Given the description of an element on the screen output the (x, y) to click on. 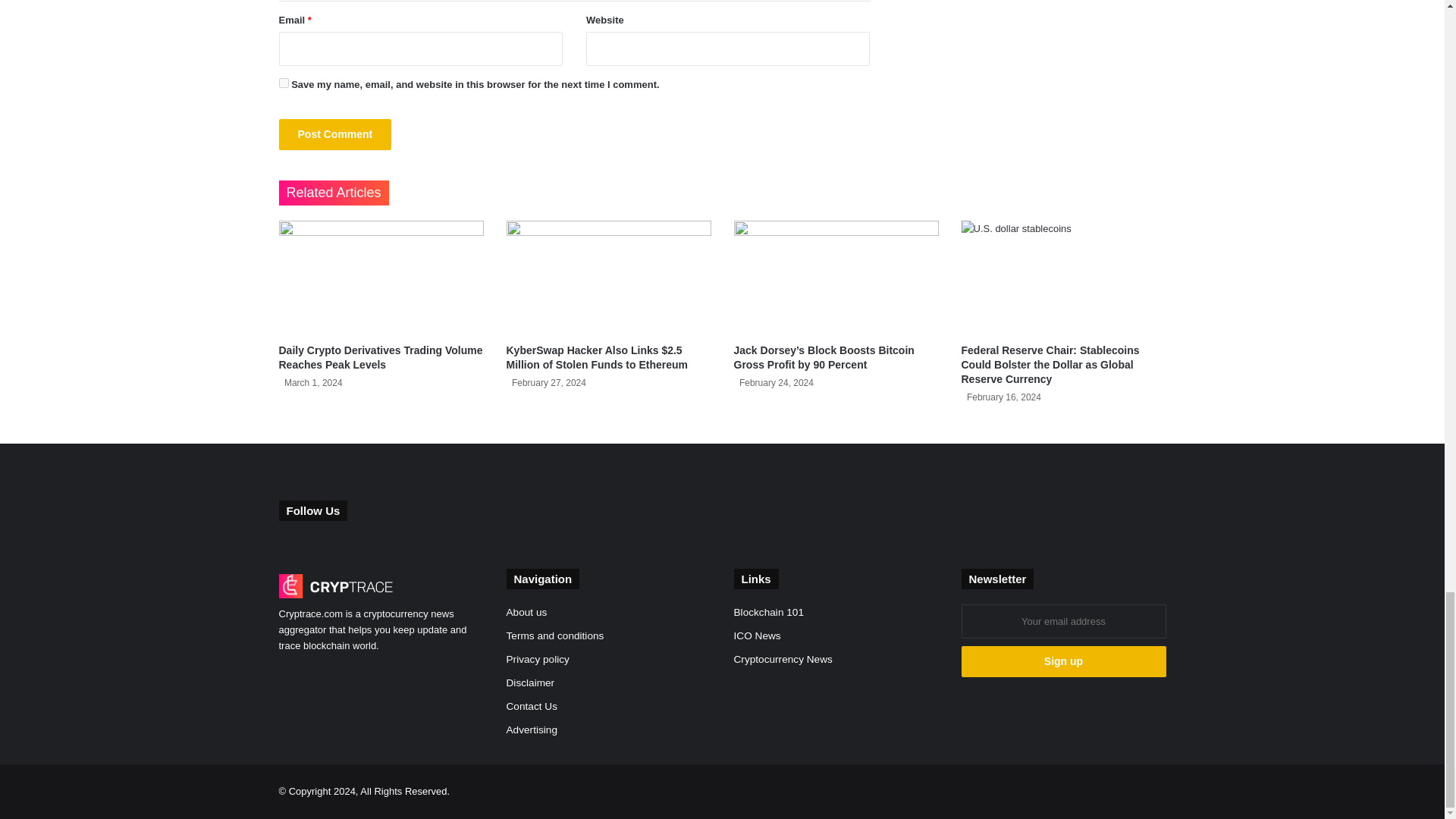
Sign up (1063, 661)
Post Comment (335, 133)
yes (283, 82)
